Given the description of an element on the screen output the (x, y) to click on. 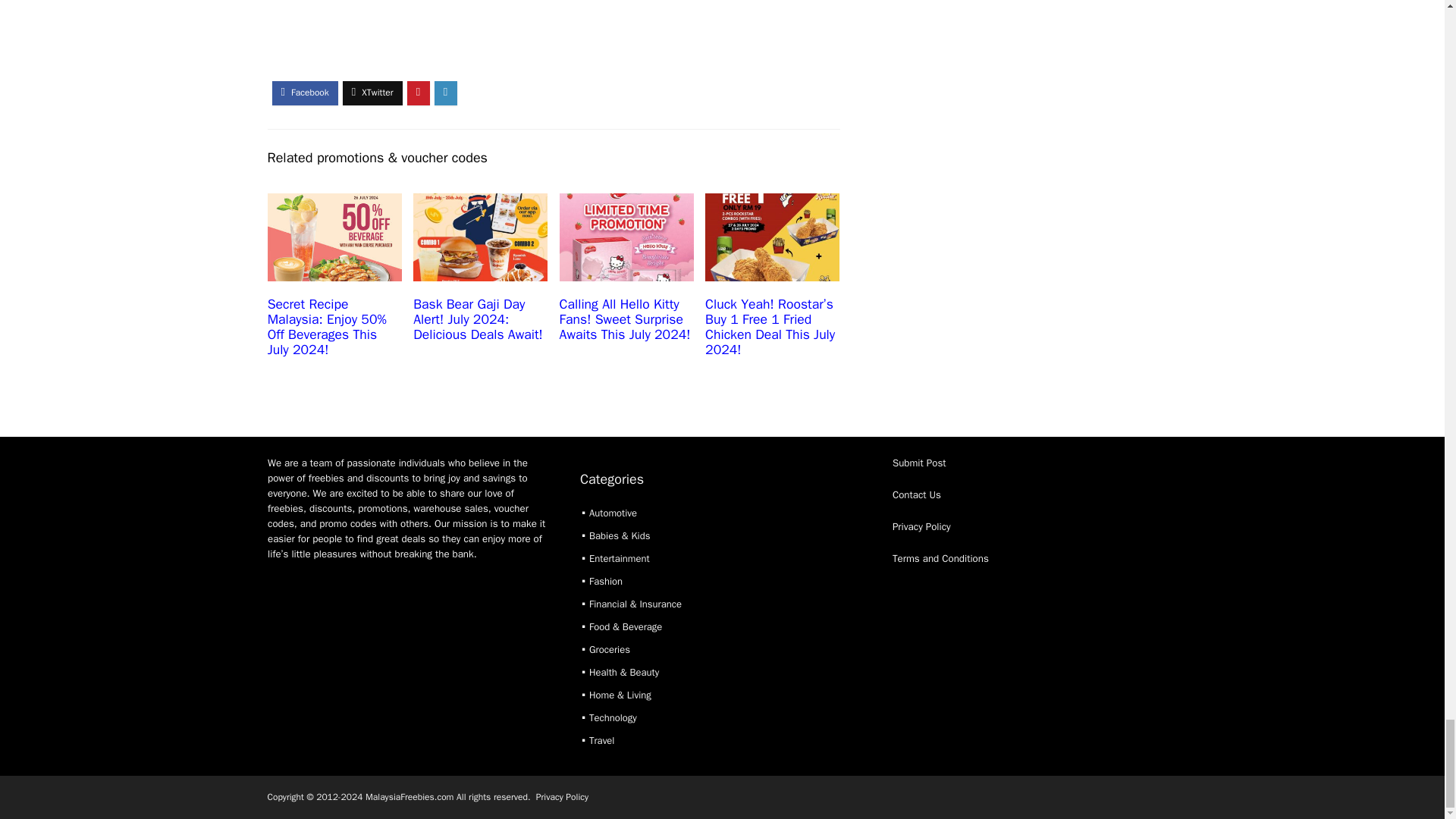
Automotive (613, 512)
Bask Bear Gaji Day Alert! July 2024: Delicious Deals Await! (478, 319)
